Given the description of an element on the screen output the (x, y) to click on. 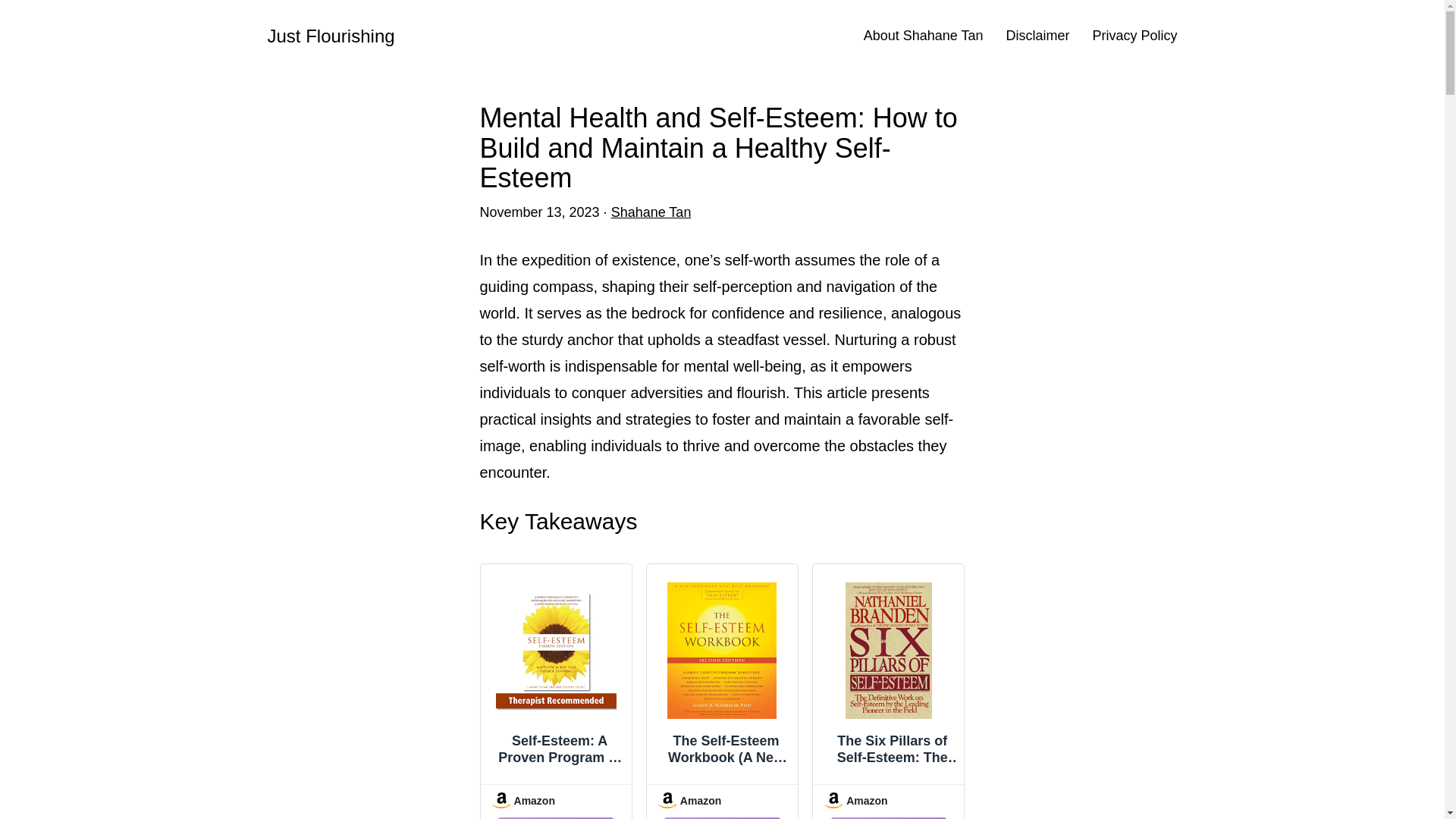
About Shahane Tan (923, 36)
Amazon (722, 805)
Amazon (556, 805)
Just Flourishing (330, 35)
Privacy Policy (1134, 36)
Disclaimer (1037, 36)
Shahane Tan (651, 212)
Amazon (888, 805)
